Given the description of an element on the screen output the (x, y) to click on. 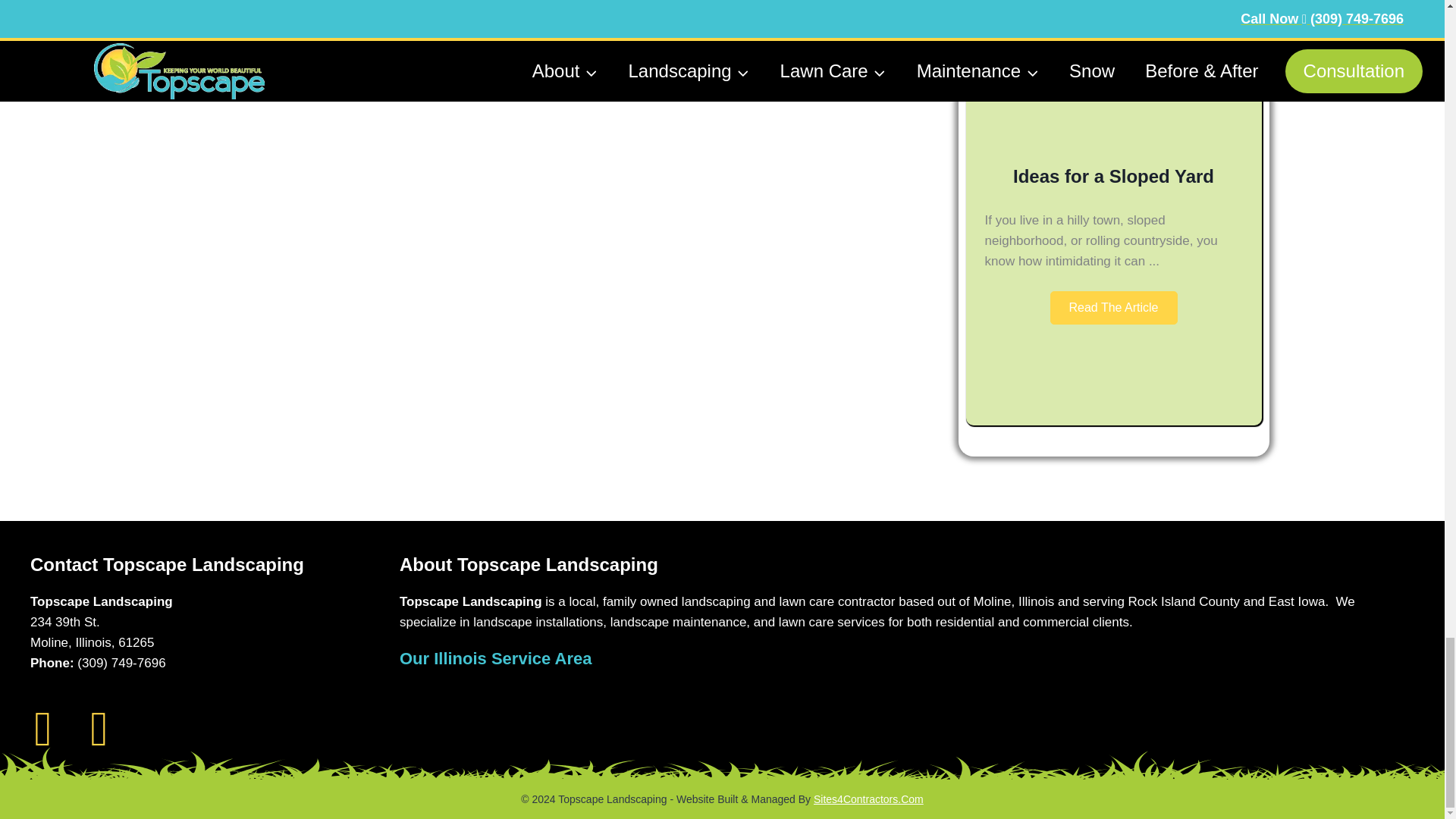
Ideas for a Sloped Yard (1112, 133)
Ideas for a Sloped Yard (1113, 176)
